Given the description of an element on the screen output the (x, y) to click on. 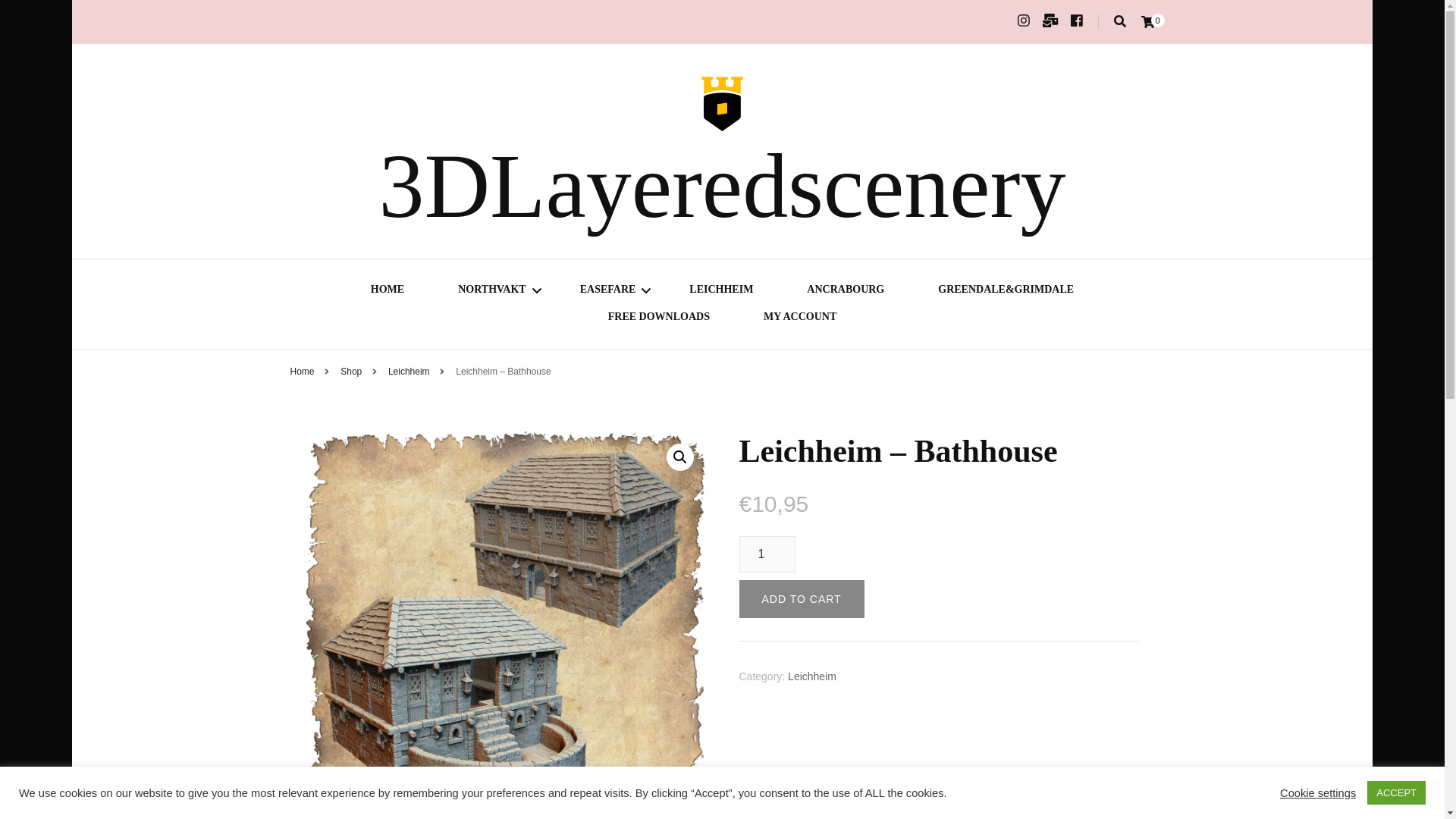
Leichheim (410, 371)
NORTHVAKT (491, 291)
MY ACCOUNT (798, 318)
Home (301, 371)
Qty (766, 553)
ANCRABOURG (844, 291)
View your shopping cart (1147, 21)
HOME (387, 291)
EASEFARE (607, 291)
0 (1147, 21)
FREE DOWNLOADS (659, 318)
1 (766, 553)
3DLayeredscenery (721, 185)
Shop (350, 371)
